Given the description of an element on the screen output the (x, y) to click on. 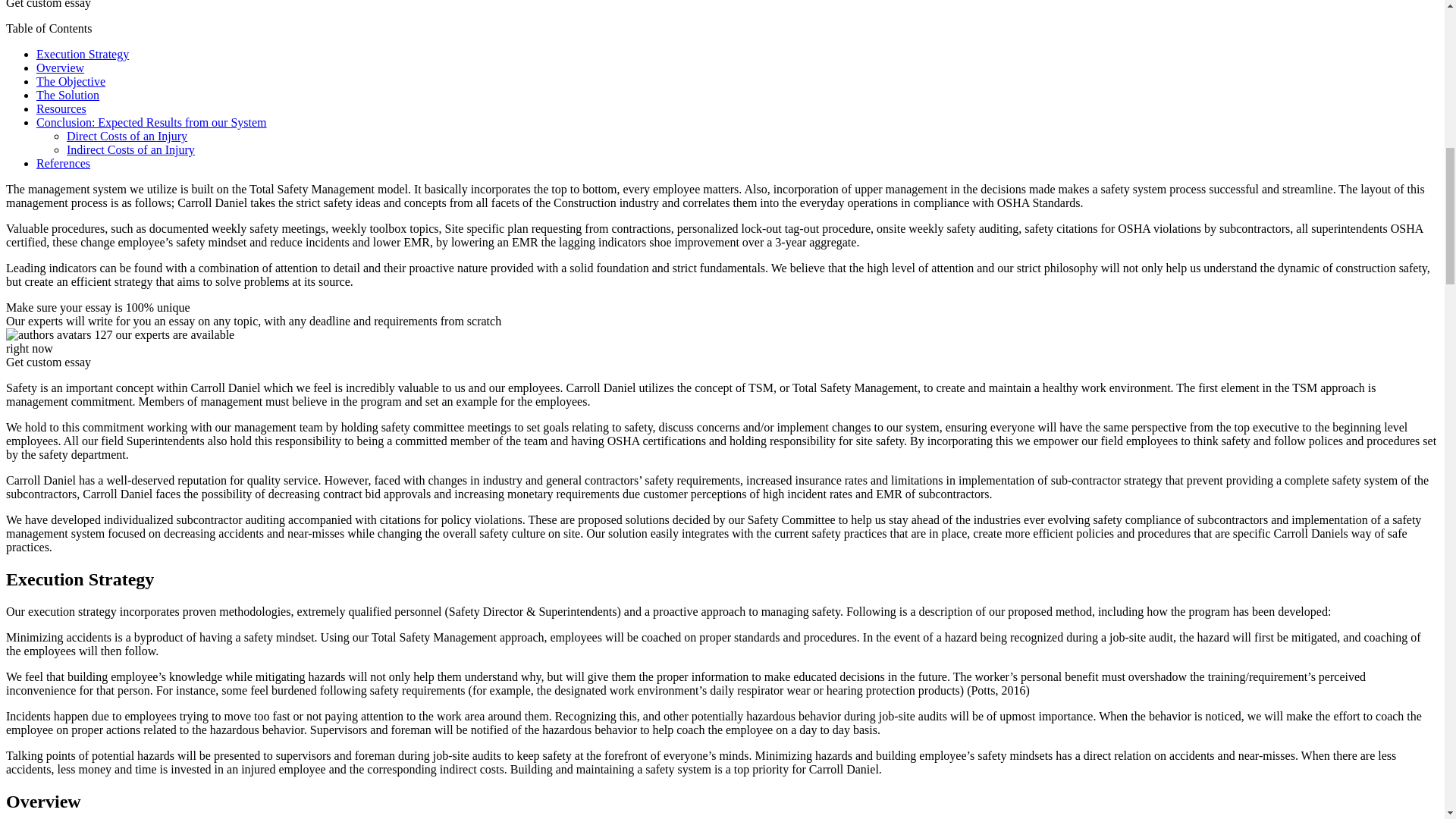
The Objective (70, 81)
Overview (60, 67)
Execution Strategy (82, 53)
